Given the description of an element on the screen output the (x, y) to click on. 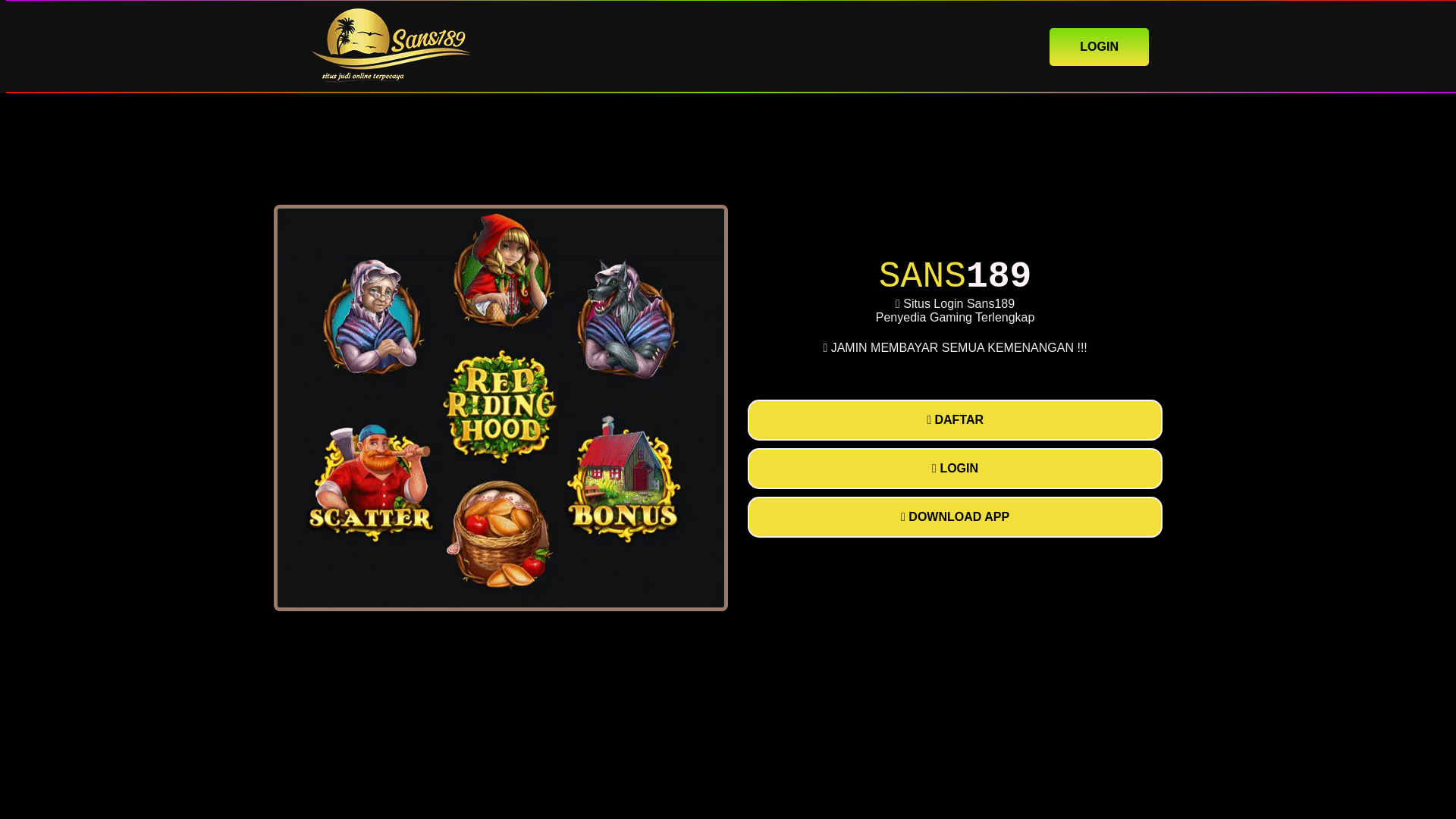
DAFTAR (954, 419)
DOWNLOAD APP (954, 516)
LOGIN (954, 467)
LOGIN (1098, 46)
